Given the description of an element on the screen output the (x, y) to click on. 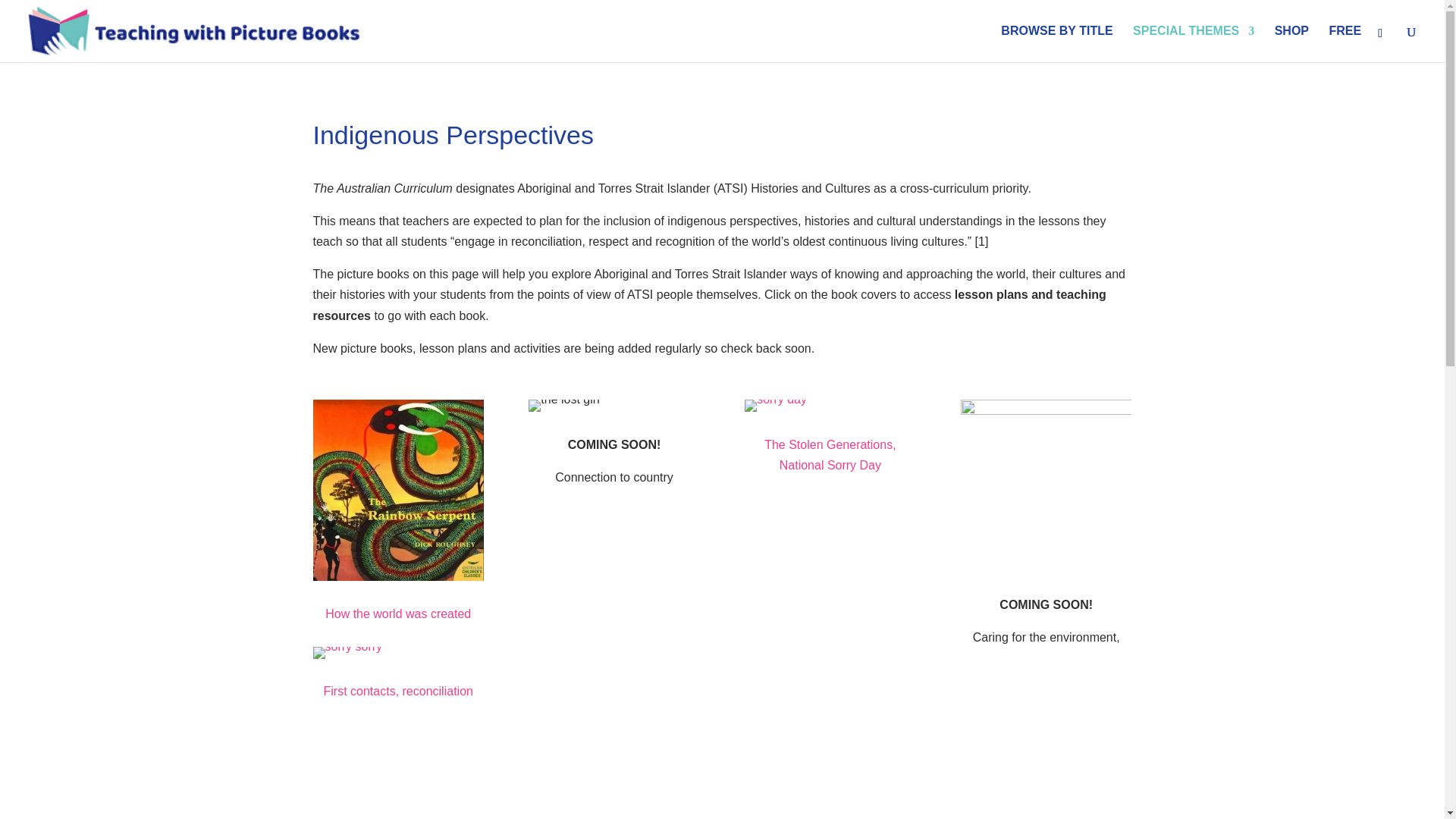
SHOP (1291, 43)
SPECIAL THEMES (1192, 43)
bennybungarrasbigbushcleanup (1045, 485)
The Apology (937, 780)
therainbowserpent (398, 489)
FREE (1344, 43)
Intergenerational Trauma Animation (505, 780)
sorryday (775, 405)
First contacts, reconciliation (398, 690)
How the world was created (397, 613)
BROWSE BY TITLE (1056, 43)
thelostgirl (563, 405)
sorrysorry (347, 653)
The Stolen Generations, National Sorry Day (829, 454)
